Given the description of an element on the screen output the (x, y) to click on. 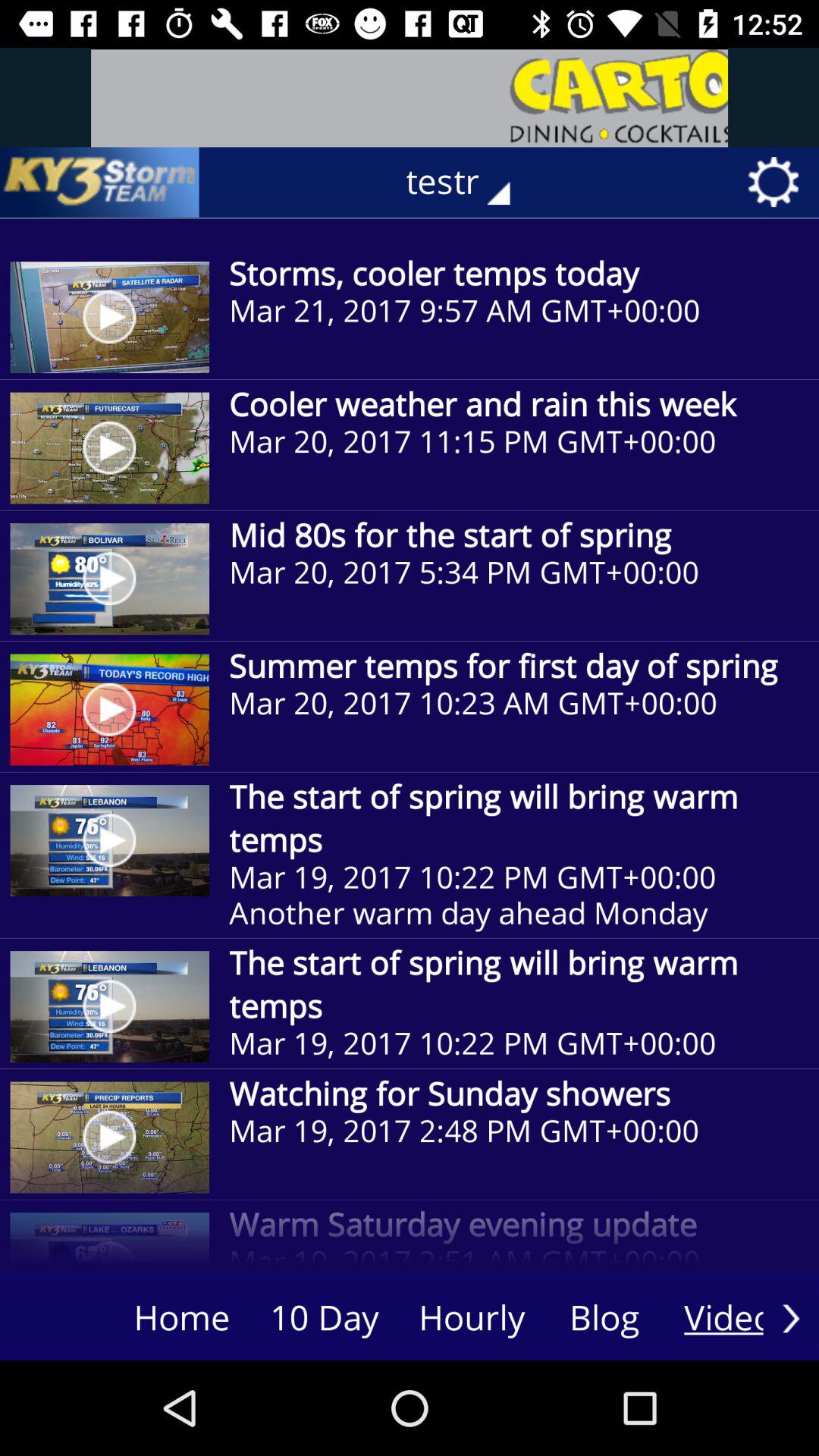
turn off item to the left of the testr (99, 182)
